Given the description of an element on the screen output the (x, y) to click on. 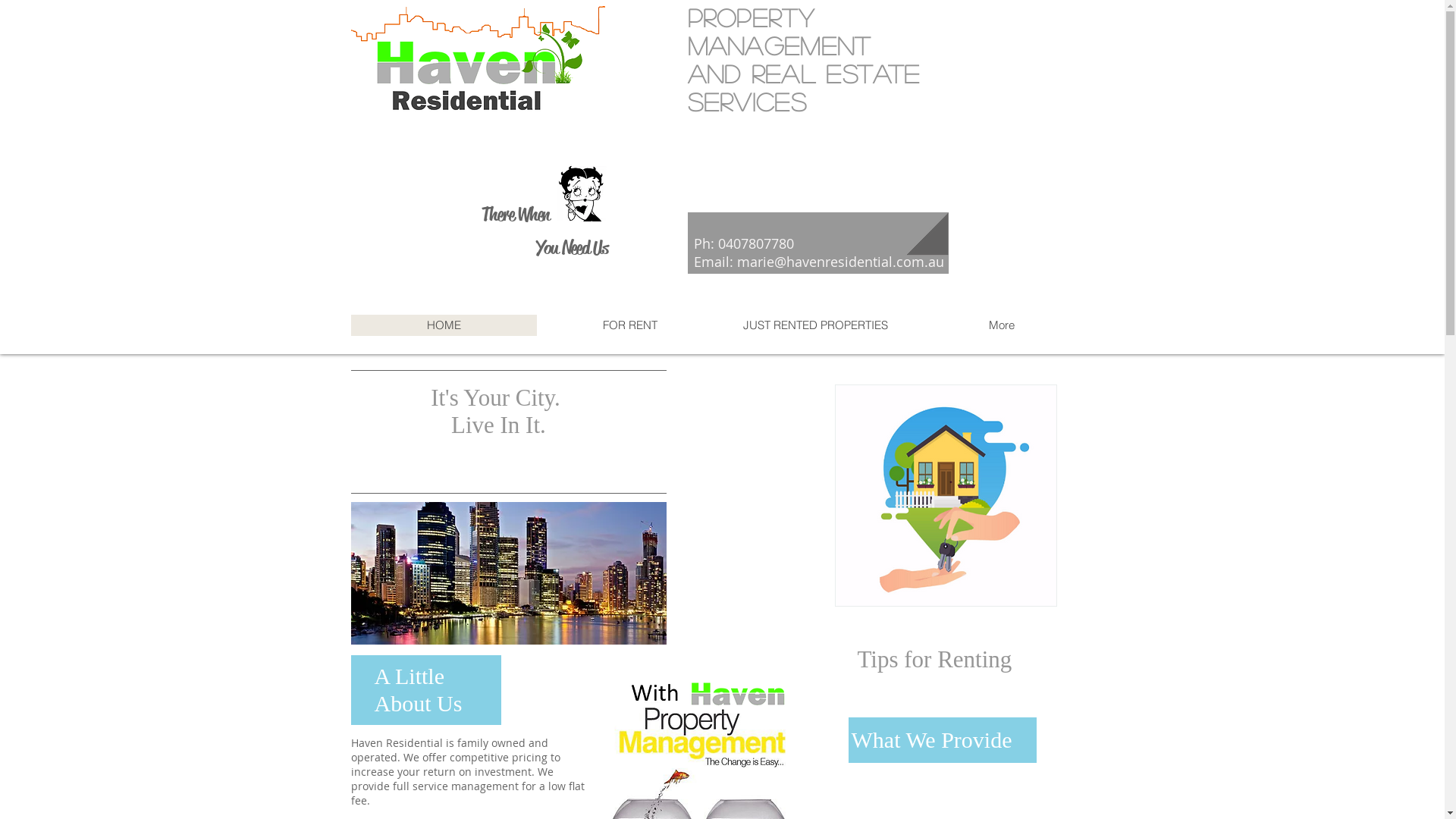
Havenz1ab.png Element type: hover (477, 58)
marie@havenresidential.com.au Element type: text (840, 261)
Migy74riR.jpg Element type: hover (585, 192)
HOME Element type: text (443, 324)
Brisbane-Skyline-Nacht.jpg Element type: hover (507, 573)
JUST RENTED PROPERTIES Element type: text (814, 324)
FOR RENT Element type: text (629, 324)
